Given the description of an element on the screen output the (x, y) to click on. 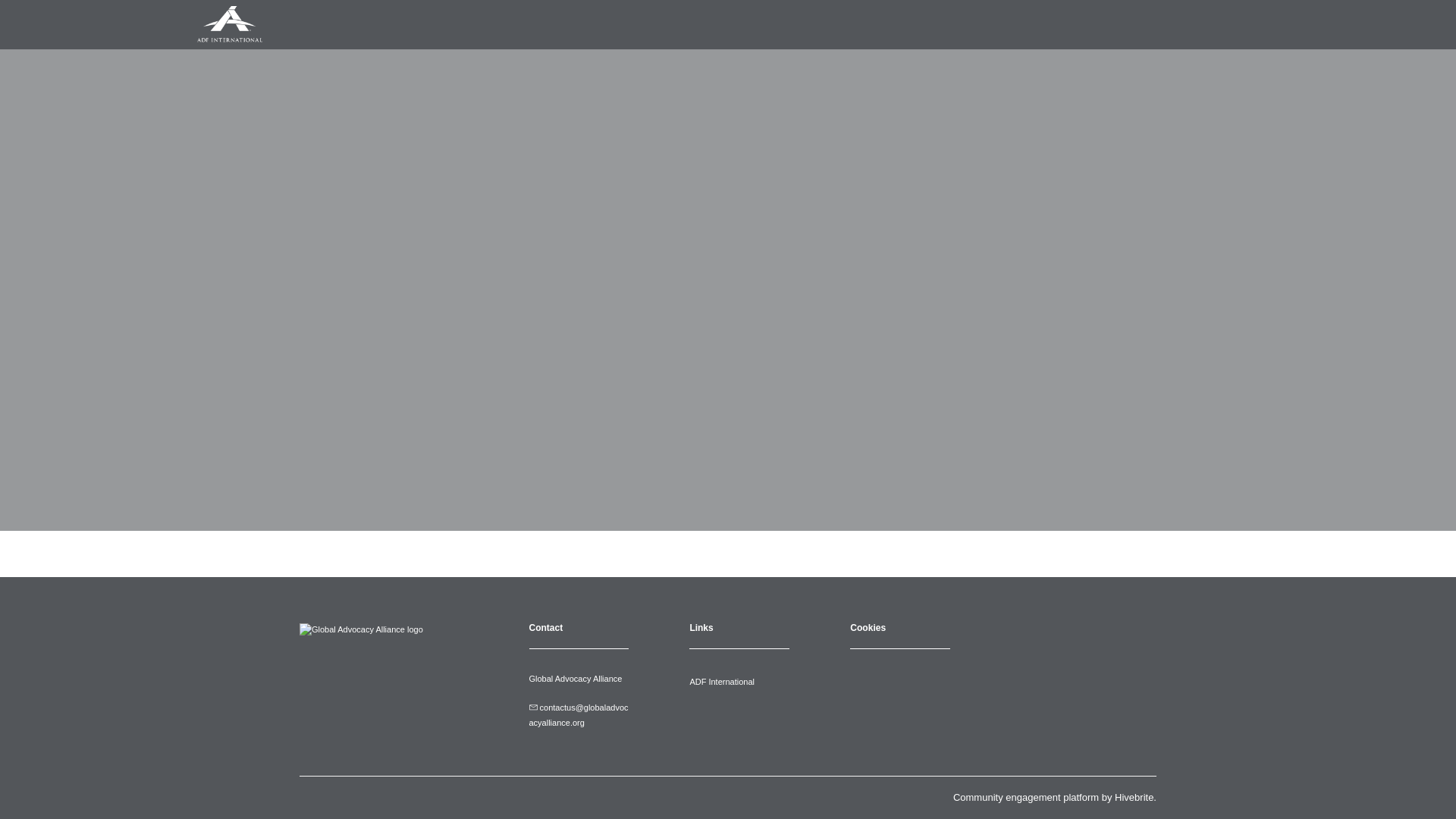
ADF International (721, 681)
ADF International  (721, 681)
Community engagement platform (1026, 797)
